Given the description of an element on the screen output the (x, y) to click on. 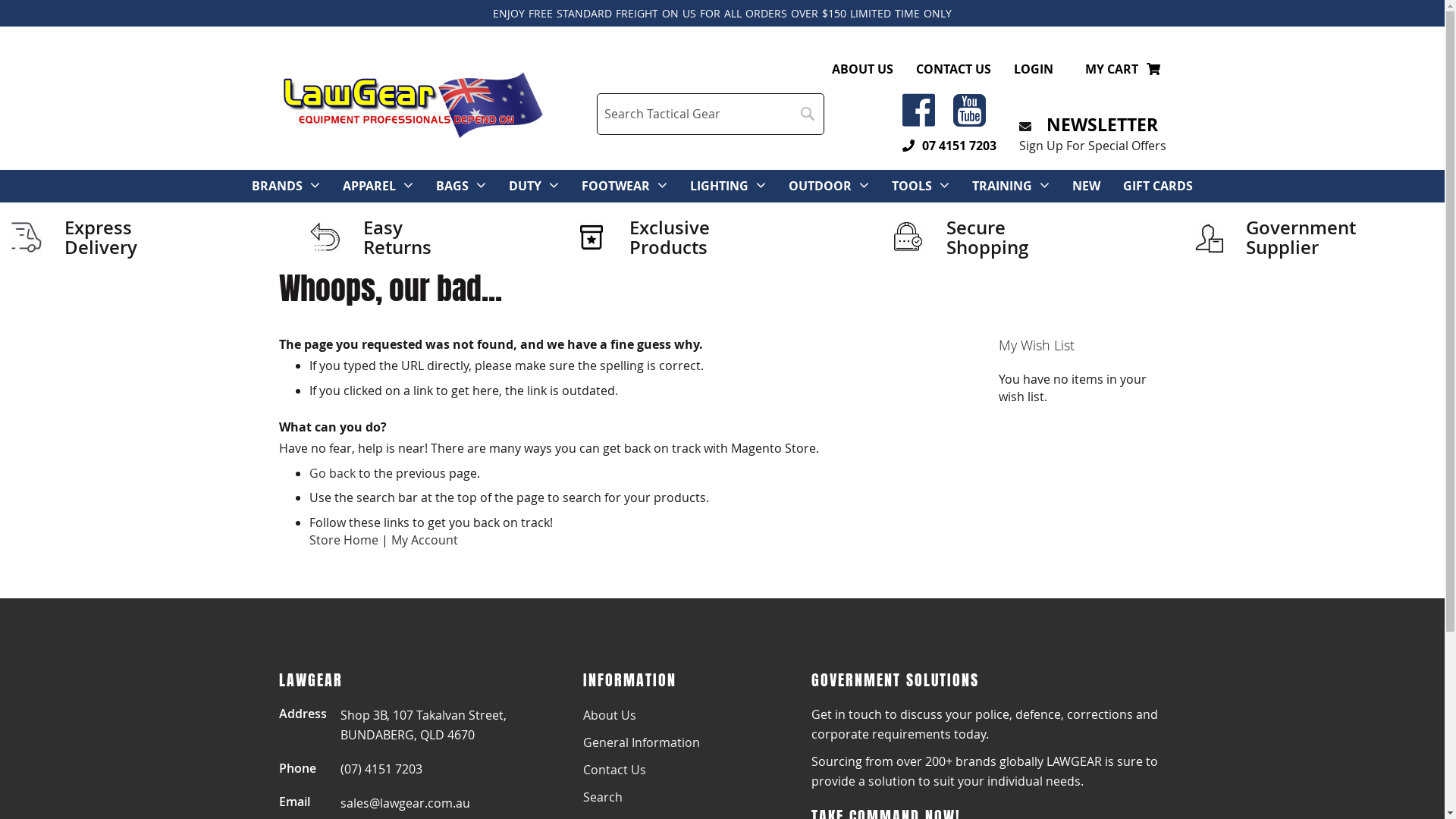
Go back Element type: text (332, 472)
Contact Us Element type: text (613, 769)
Search Element type: text (601, 796)
Store Home Element type: text (343, 539)
LOGIN Element type: text (1032, 68)
ABOUT US Element type: text (861, 68)
  Element type: text (923, 118)
TRAINING Element type: text (1002, 185)
General Information Element type: text (640, 742)
BAGS Element type: text (452, 185)
NEW Element type: text (1086, 185)
DUTY Element type: text (524, 185)
About Us Element type: text (608, 715)
Sign Up For Special Offers Element type: text (1092, 145)
  Element type: text (973, 118)
OUTDOOR Element type: text (819, 185)
(07) 4151 7203 Element type: text (380, 768)
TOOLS Element type: text (911, 185)
MY CART Element type: text (1122, 69)
APPAREL Element type: text (368, 185)
GIFT CARDS Element type: text (1157, 185)
FOOTWEAR Element type: text (615, 185)
LIGHTING Element type: text (719, 185)
CONTACT US Element type: text (953, 68)
SEARCH Element type: text (808, 113)
BRANDS Element type: text (276, 185)
My Account Element type: text (424, 539)
  07 4151 7203 Element type: text (949, 145)
